Given the description of an element on the screen output the (x, y) to click on. 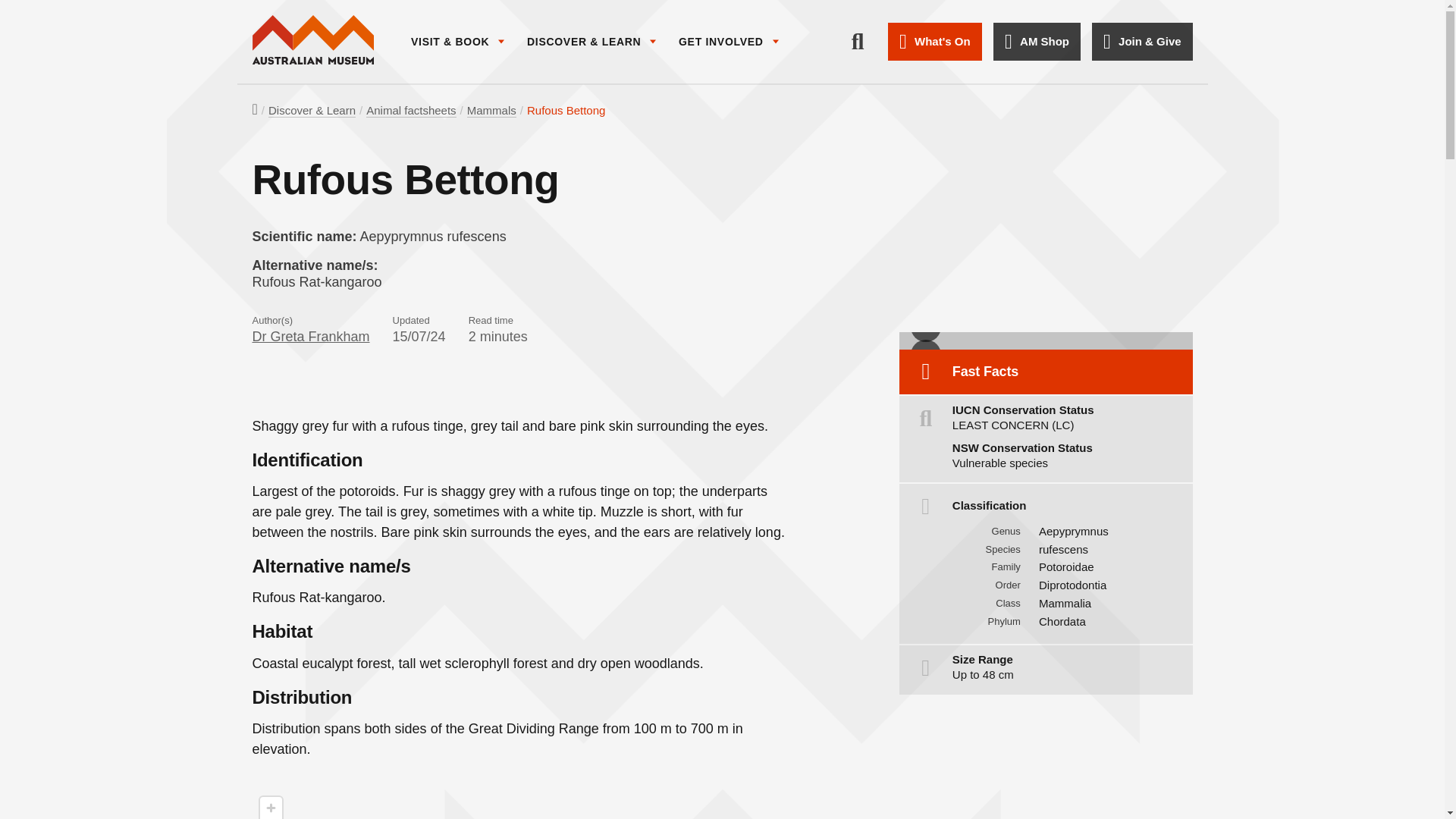
Zoom in (270, 807)
Go to homepage (311, 40)
Welcome to the Australian Museum website (311, 40)
